Given the description of an element on the screen output the (x, y) to click on. 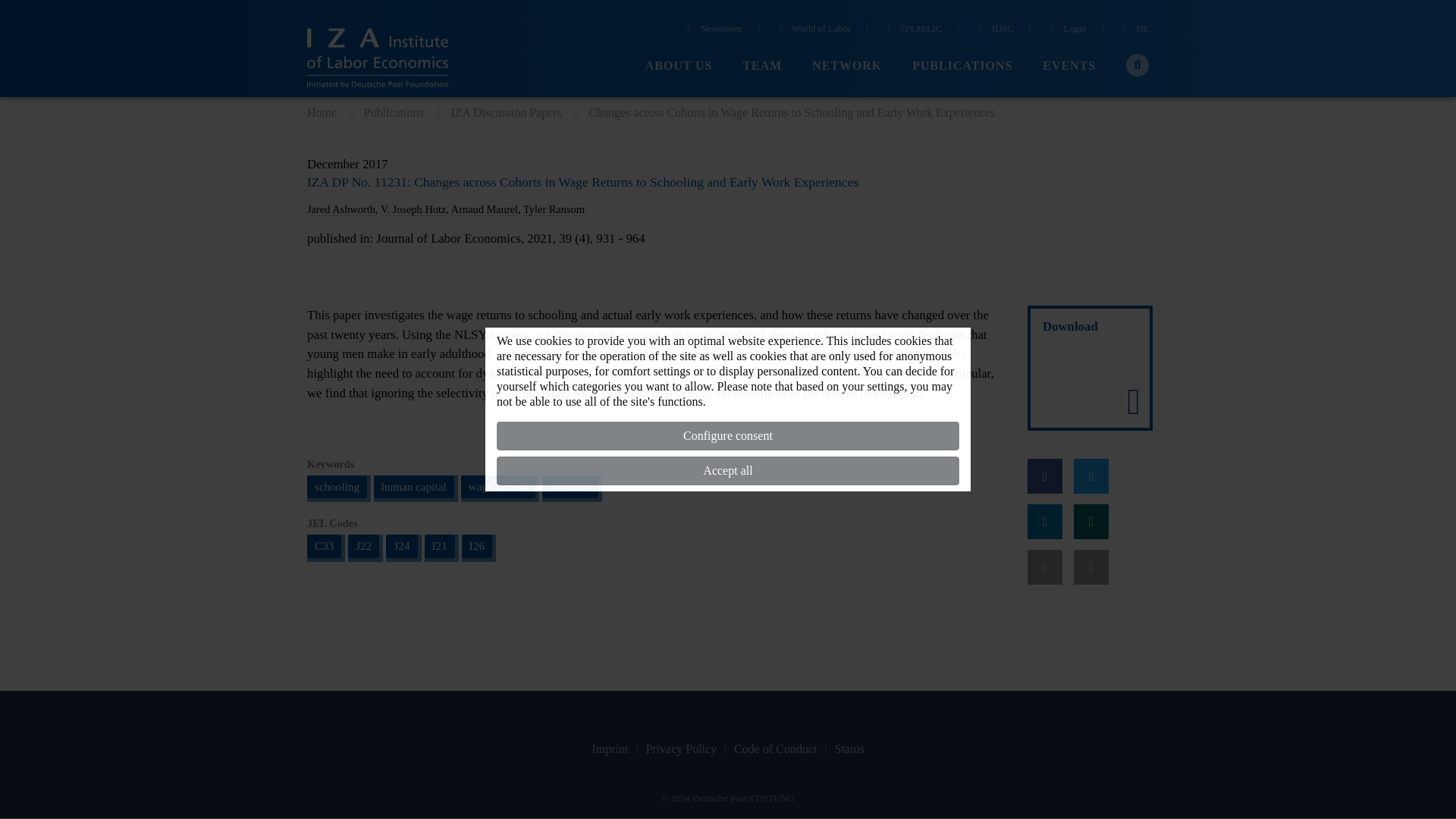
EVENTS (1069, 66)
PUBLICATIONS (961, 66)
DE (1133, 30)
TEAM (761, 66)
World of Labor (812, 30)
Login (1066, 30)
Newsroom (712, 30)
ABOUT US (679, 66)
IDSC (993, 30)
NETWORK (847, 66)
